Given the description of an element on the screen output the (x, y) to click on. 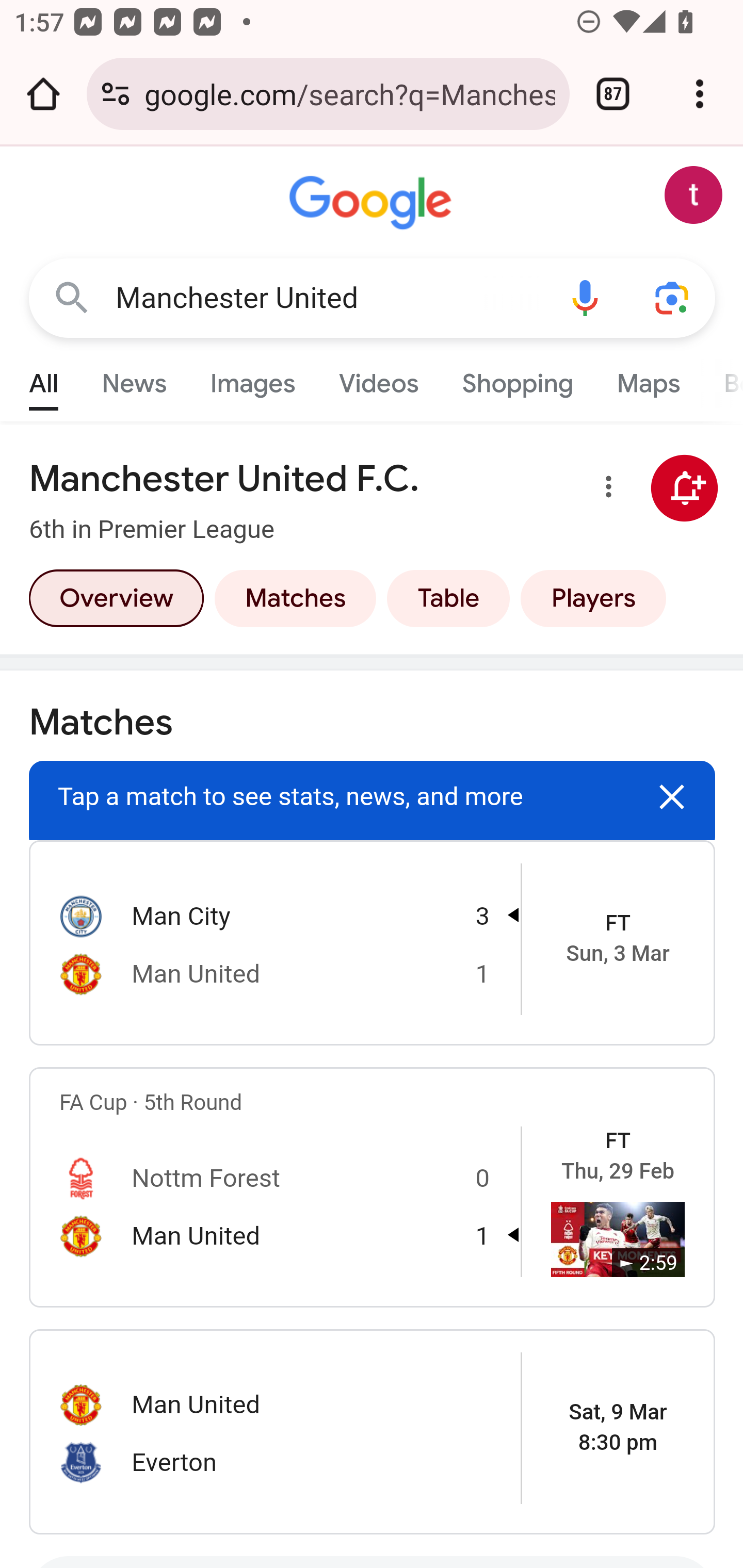
Open the home page (43, 93)
Connection is secure (115, 93)
Switch or close tabs (612, 93)
Customize and control Google Chrome (699, 93)
Google (372, 203)
Google Search (71, 296)
Search using your camera or photos (672, 296)
Manchester United (328, 297)
News (134, 378)
Images (252, 378)
Videos (378, 378)
Shopping (516, 378)
Maps (647, 378)
Get notifications about Manchester United F.C. (684, 489)
More options (605, 489)
Overview (116, 597)
Matches (294, 597)
Table (448, 597)
Players (593, 597)
close (672, 796)
